Given the description of an element on the screen output the (x, y) to click on. 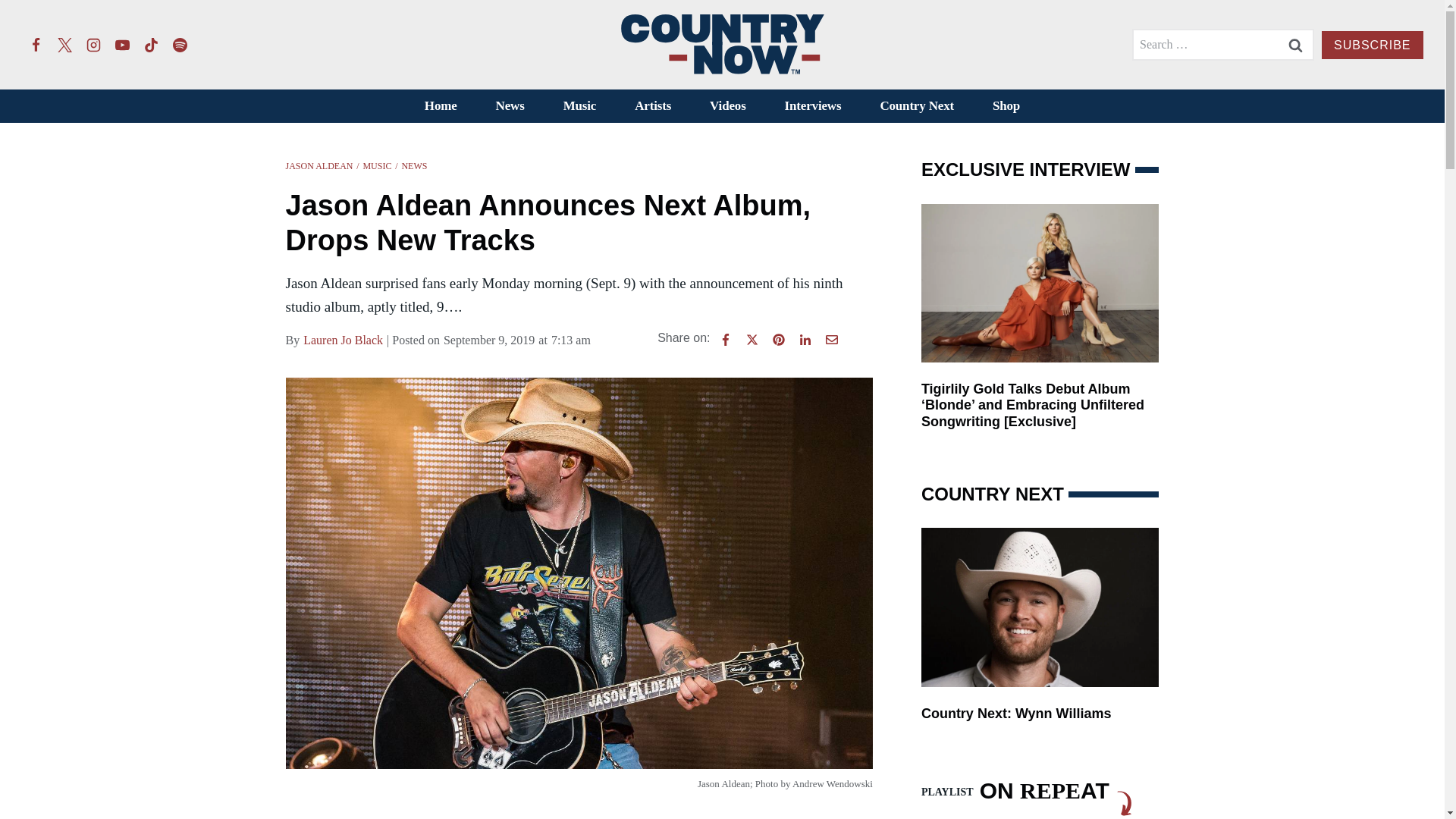
Artists (652, 105)
News (509, 105)
Lauren Jo Black (342, 340)
Interviews (812, 105)
Search (1295, 44)
Home (440, 105)
NEWS (413, 165)
Search (1295, 44)
Shop (1005, 105)
JASON ALDEAN (318, 165)
Music (579, 105)
SUBSCRIBE (1372, 44)
Videos (727, 105)
MUSIC (376, 165)
Country Next (917, 105)
